Given the description of an element on the screen output the (x, y) to click on. 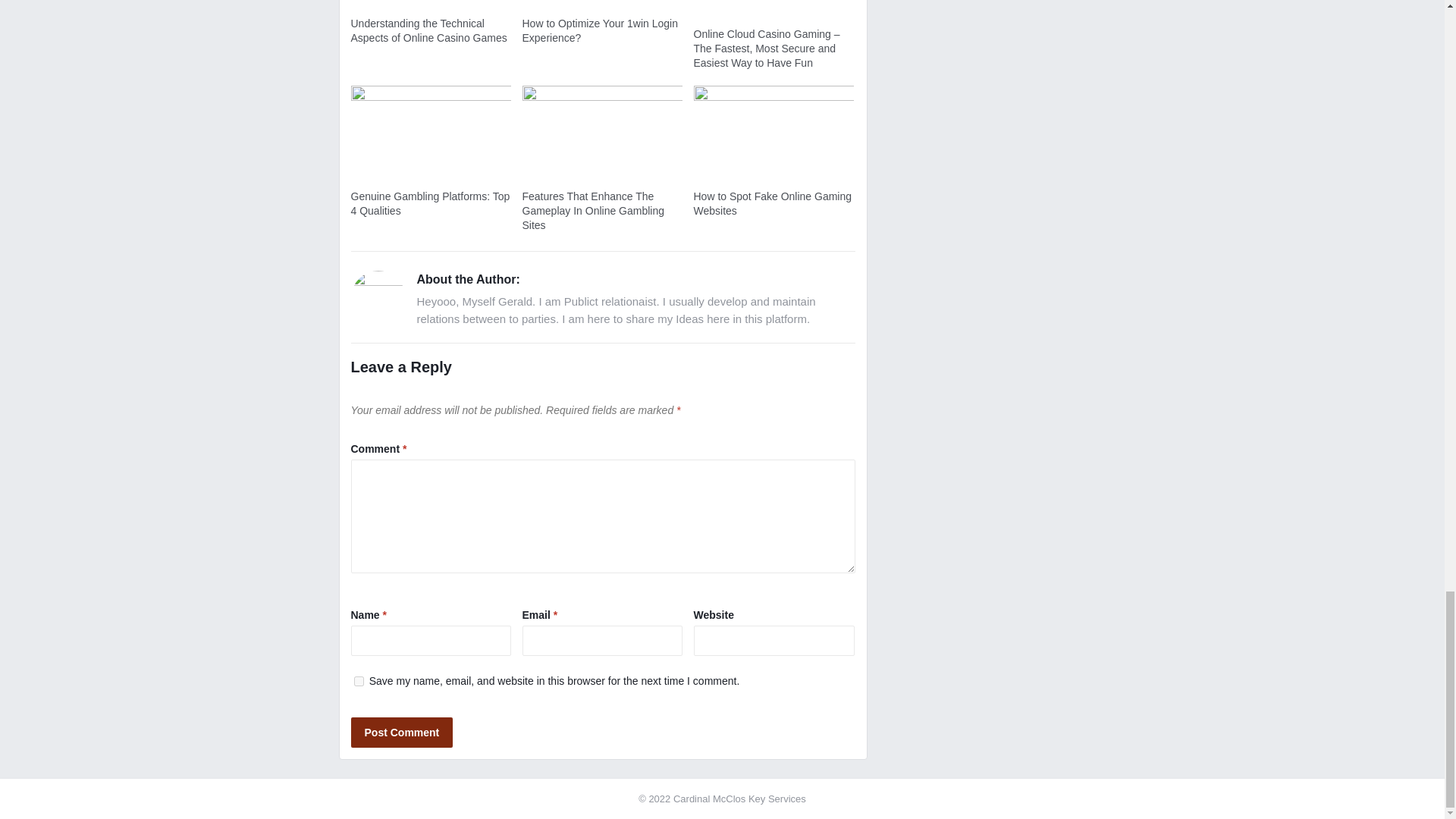
How to Optimize Your 1win Login Experience? (599, 30)
yes (357, 681)
Post Comment (401, 732)
Post Comment (401, 732)
Features That Enhance The Gameplay In Online Gambling Sites (592, 210)
How to Spot Fake Online Gaming Websites (772, 203)
Understanding the Technical Aspects of Online Casino Games (428, 30)
Genuine Gambling Platforms: Top 4 Qualities (429, 203)
